Given the description of an element on the screen output the (x, y) to click on. 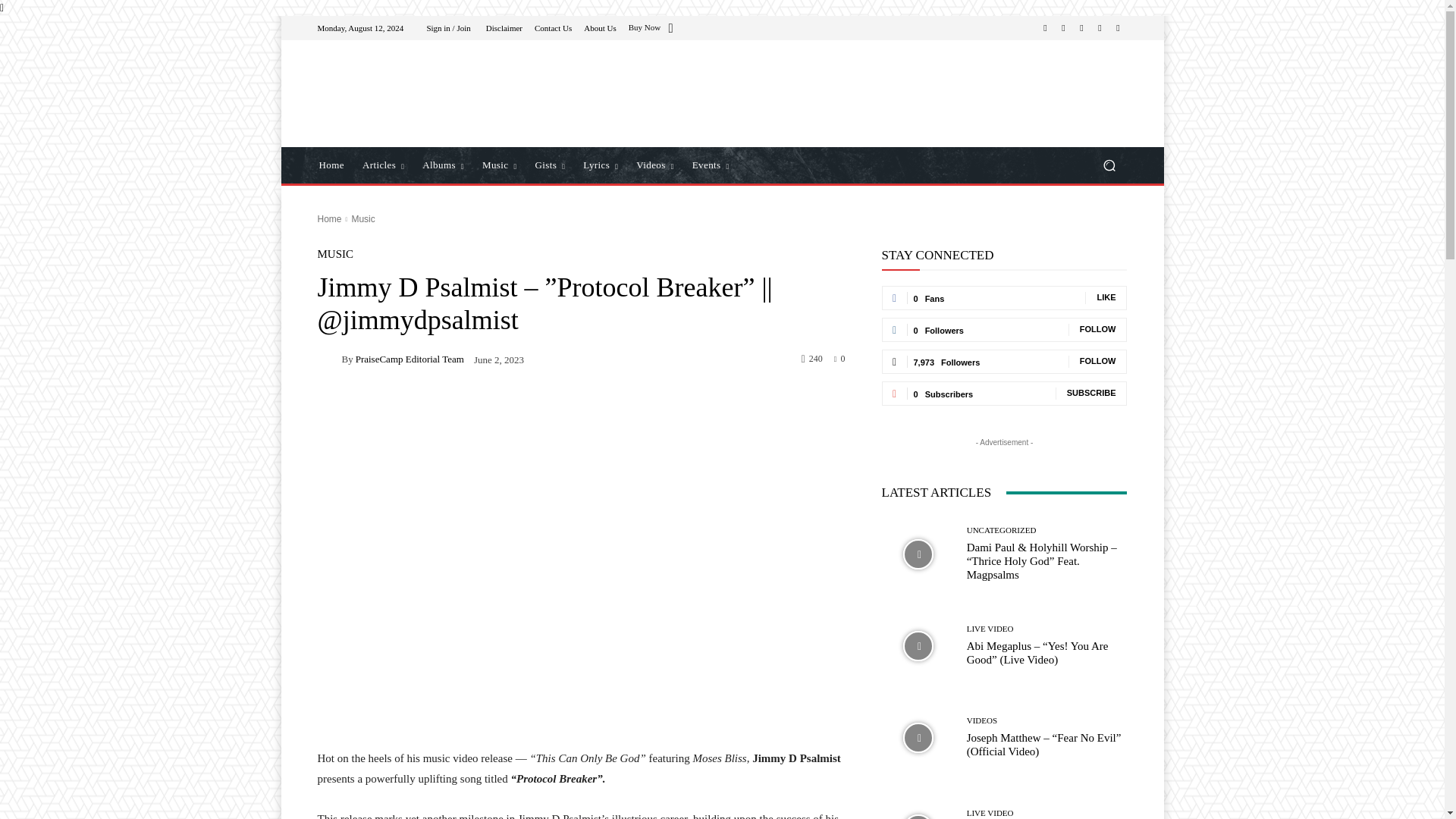
About Us (599, 28)
Facebook (1044, 27)
WhatsApp (1099, 27)
Instagram (1062, 27)
Twitter (1080, 27)
Articles (383, 165)
Home (330, 165)
Contact Us (553, 28)
Youtube (1117, 27)
Disclaimer (504, 28)
